Given the description of an element on the screen output the (x, y) to click on. 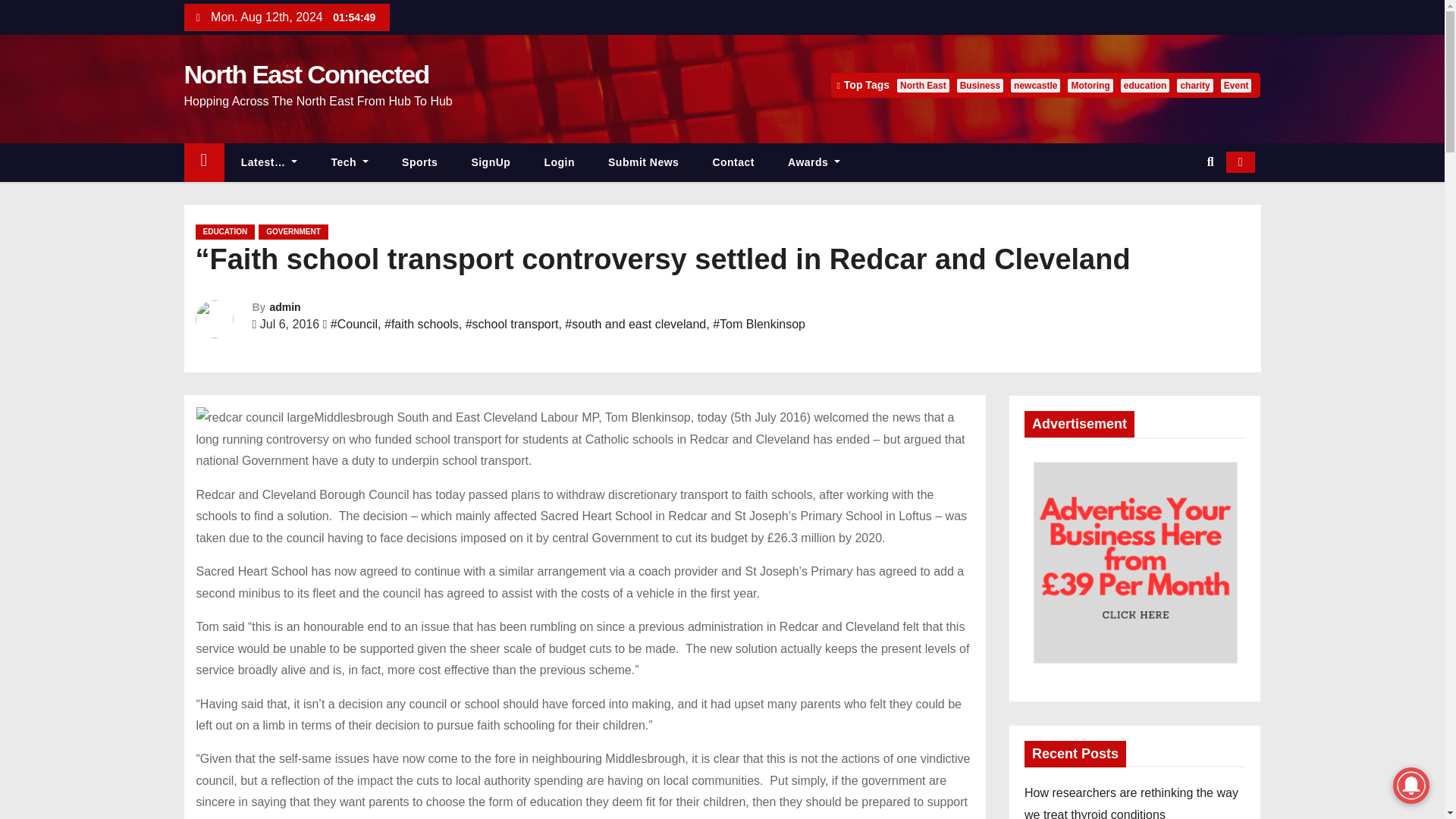
Home (203, 162)
Business (979, 85)
charity (1194, 85)
Event (1236, 85)
Login (559, 162)
newcastle (1034, 85)
SignUp (490, 162)
Tech (349, 162)
Submit News (643, 162)
Sports (419, 162)
